Given the description of an element on the screen output the (x, y) to click on. 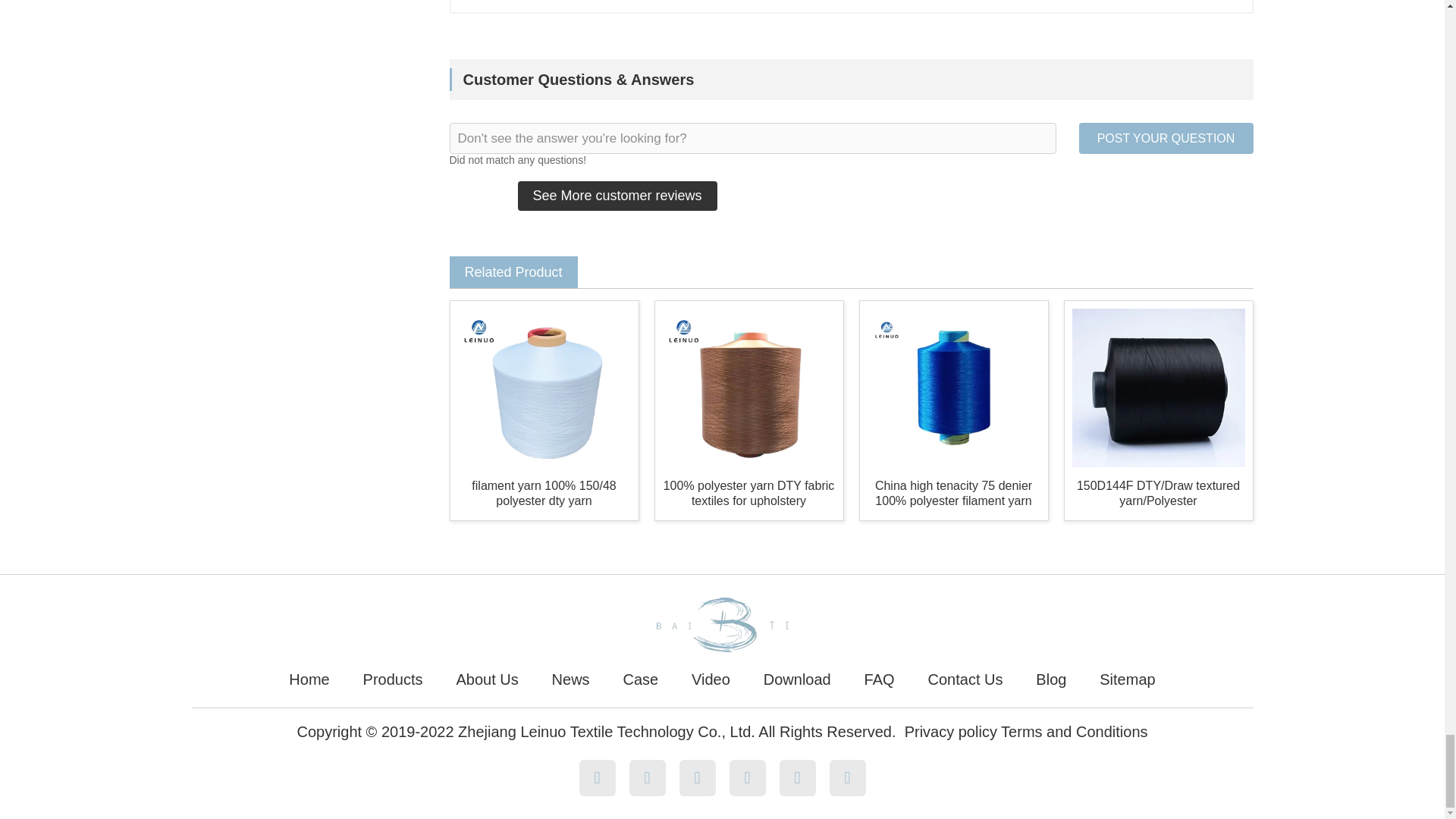
Inquiry (850, 6)
